Given the description of an element on the screen output the (x, y) to click on. 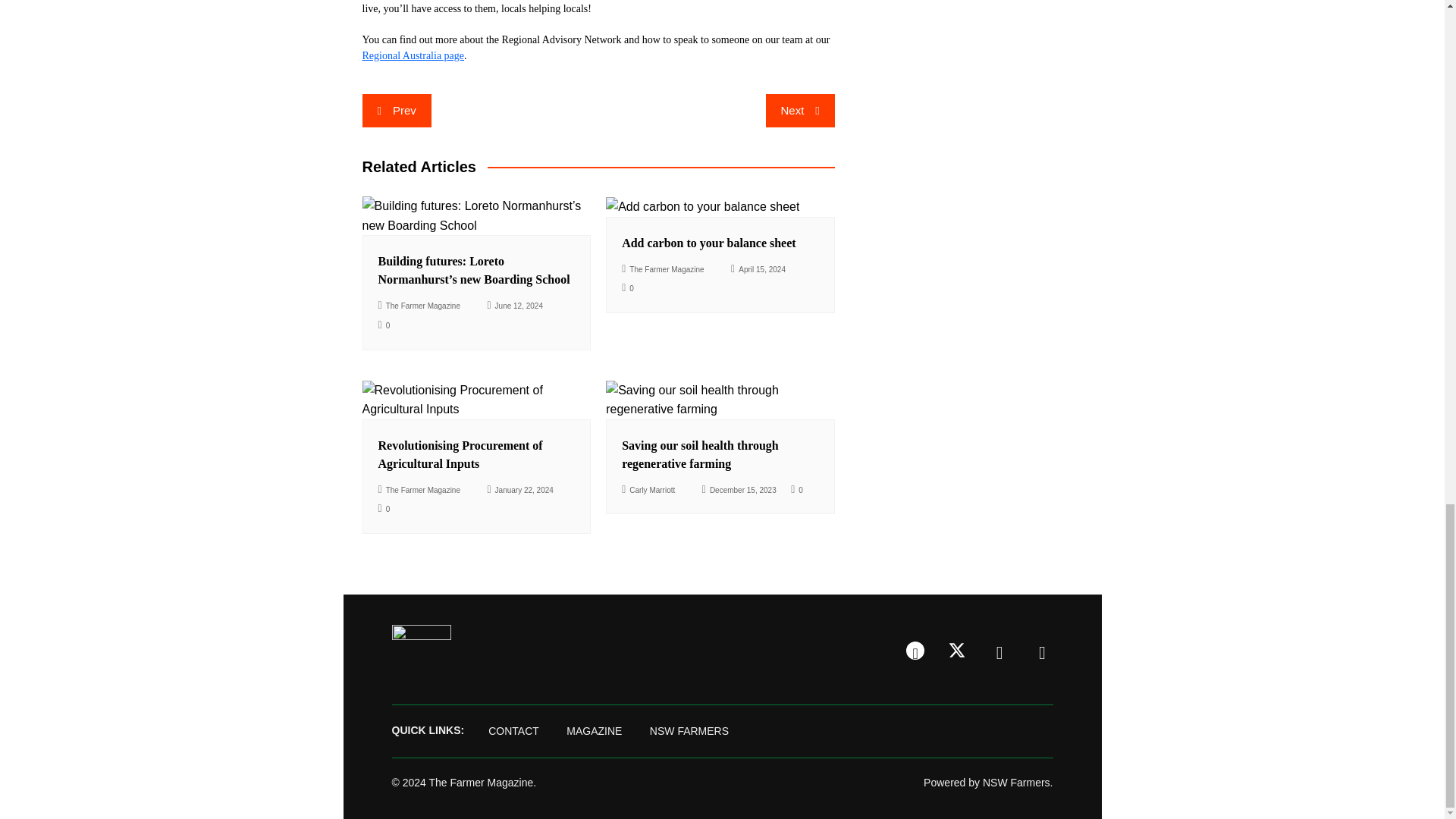
April 15, 2024 (758, 269)
The Farmer Magazine (418, 305)
June 12, 2024 (514, 305)
Regional Australia page (413, 55)
Prev (396, 110)
Add carbon to your balance sheet (708, 242)
The Farmer Magazine (662, 269)
Join Now (420, 646)
Revolutionising Procurement of Agricultural Inputs (459, 454)
Next (799, 110)
